Given the description of an element on the screen output the (x, y) to click on. 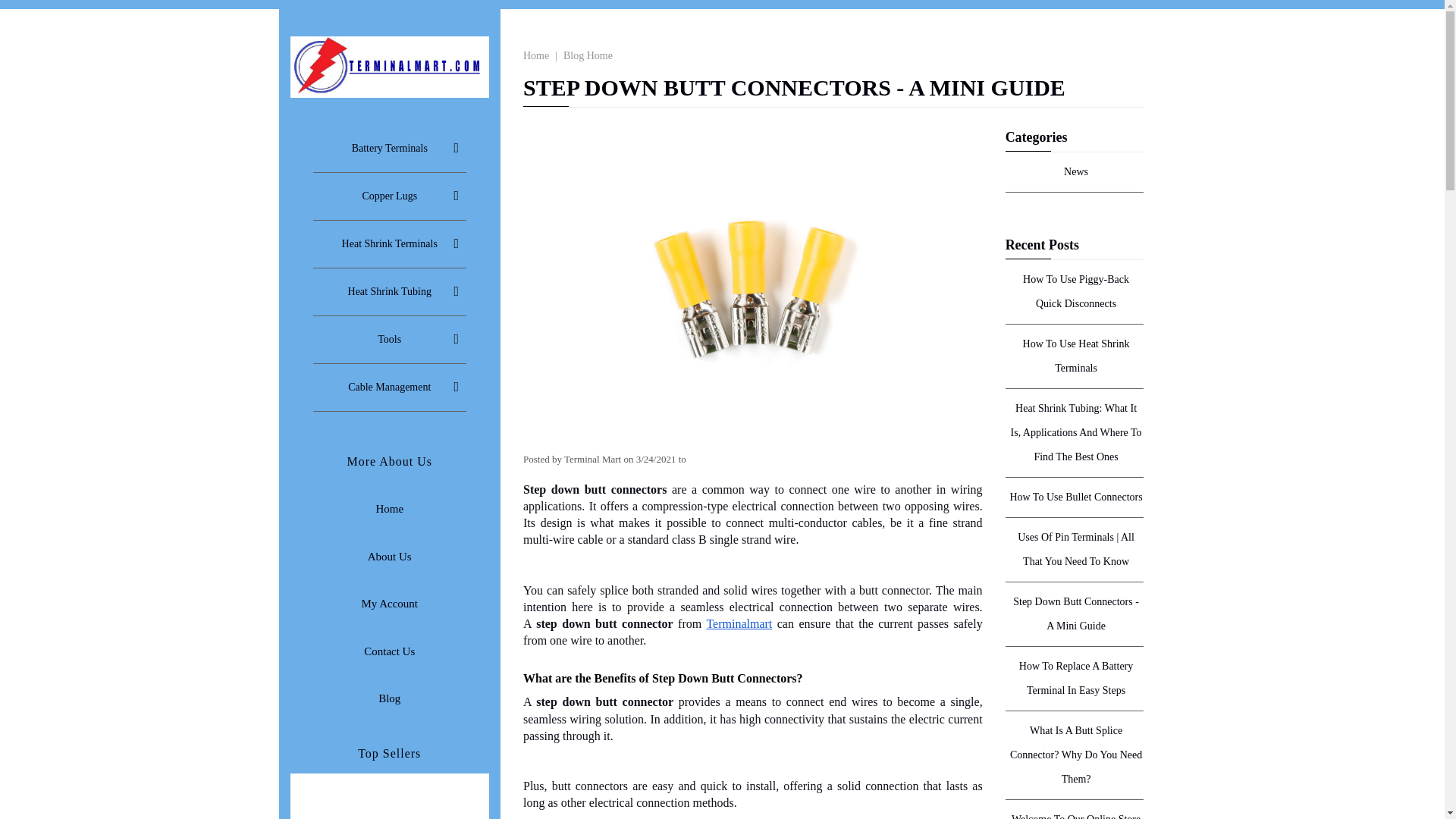
Heat Shrink Terminals (389, 243)
Battery Terminals (389, 148)
Copper Lugs (389, 196)
Heat Shrink Tubing (389, 291)
